Given the description of an element on the screen output the (x, y) to click on. 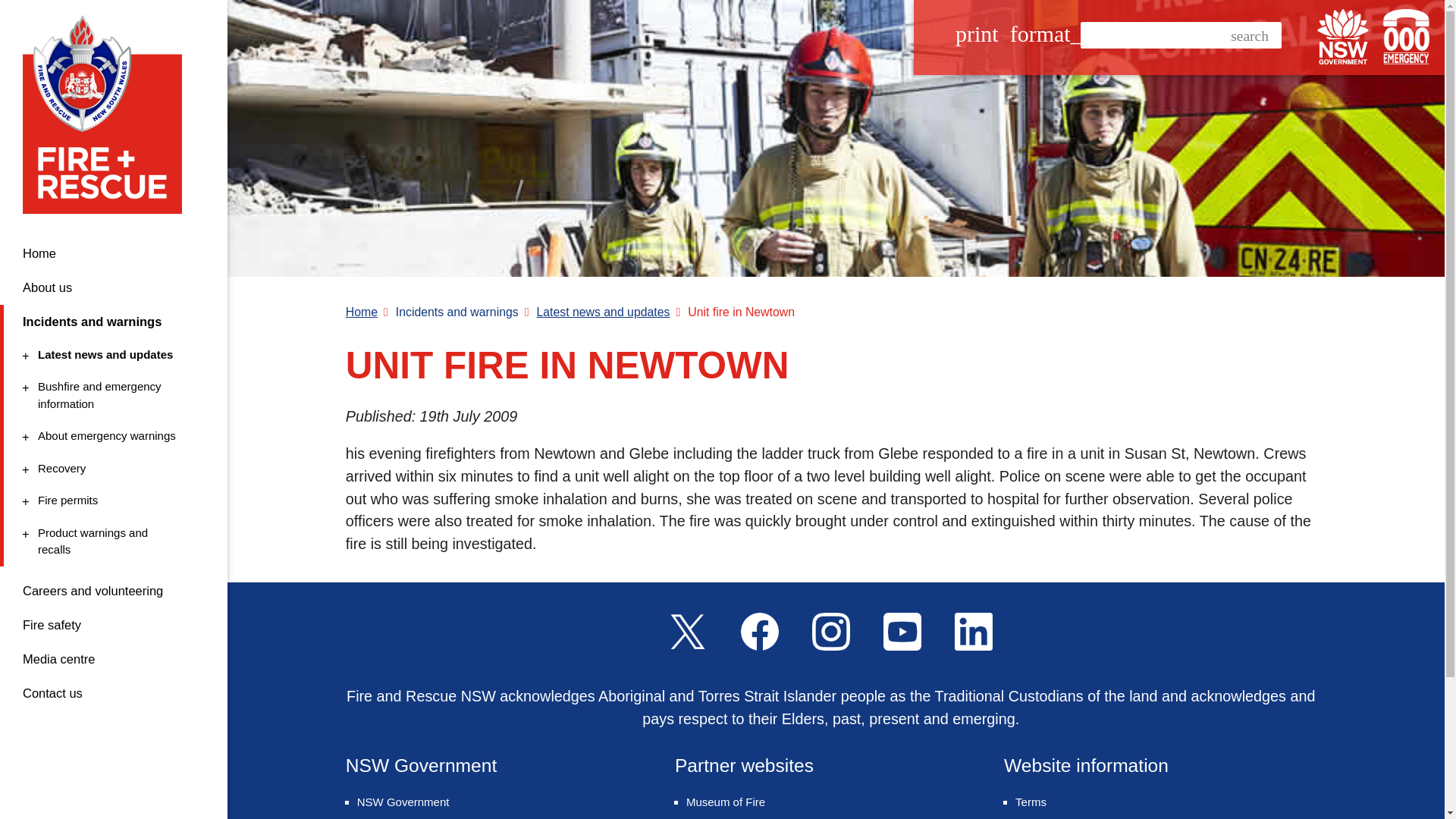
NSW Government (1342, 36)
Fire and Rescue NSW (111, 395)
Latest news and updates (107, 114)
About emergency warnings (111, 354)
Recovery (111, 436)
Home (111, 468)
Fire permits (113, 253)
